Given the description of an element on the screen output the (x, y) to click on. 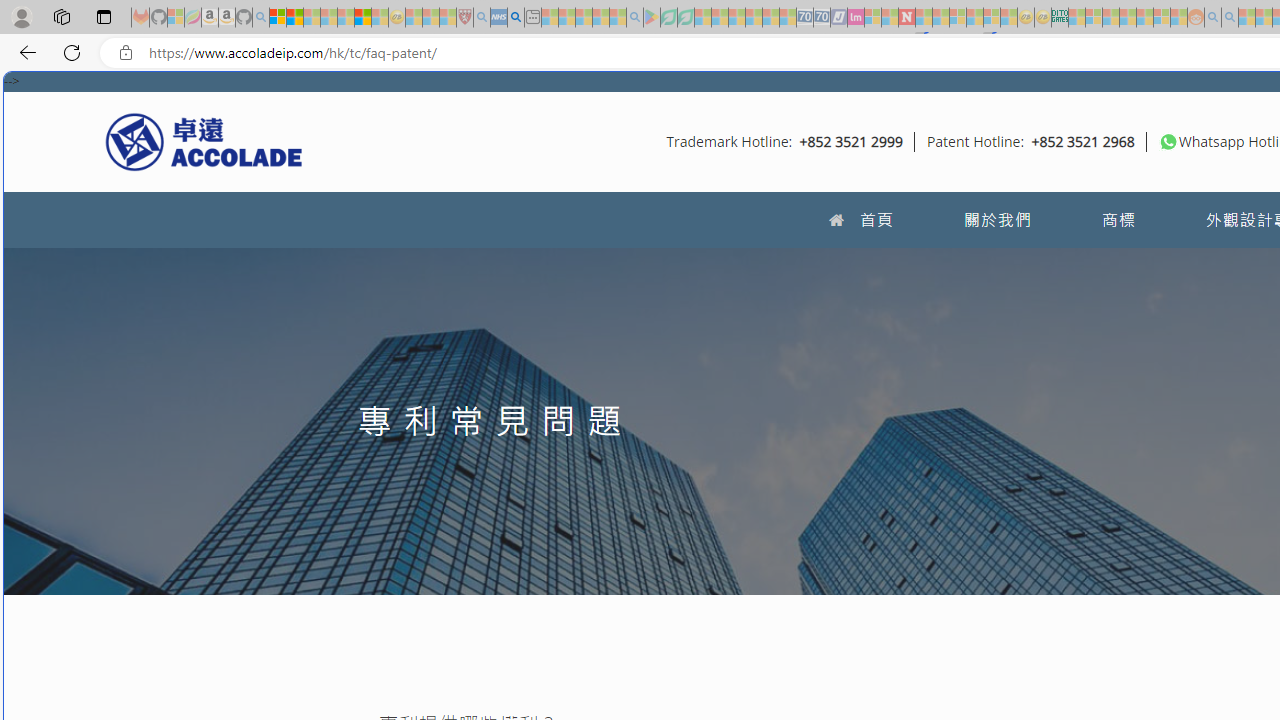
Accolade IP HK Logo (203, 141)
